Given the description of an element on the screen output the (x, y) to click on. 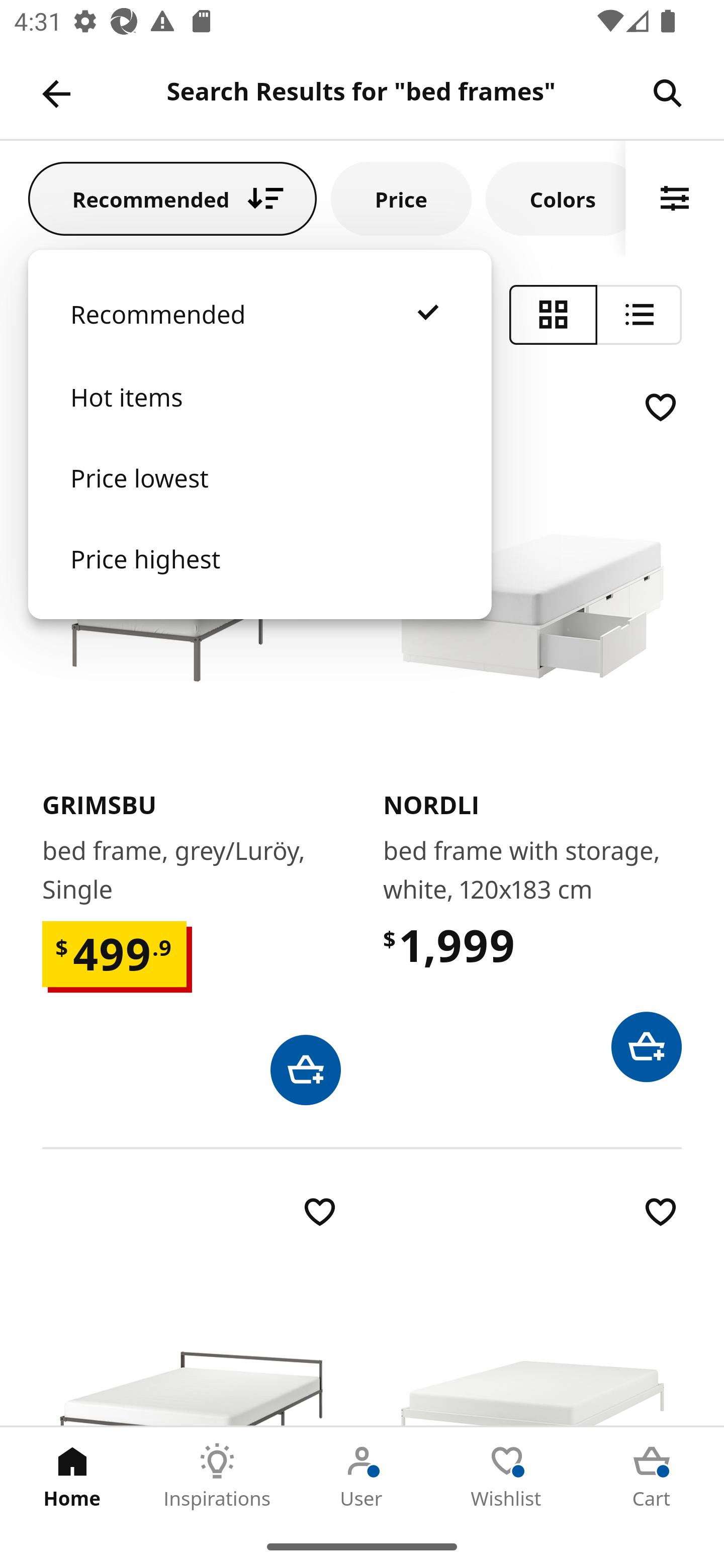
Recommended (172, 198)
Price (400, 198)
Colors (555, 198)
Recommended (259, 333)
Hot items (259, 416)
Price lowest (259, 497)
Price highest (259, 578)
Home
Tab 1 of 5 (72, 1476)
Inspirations
Tab 2 of 5 (216, 1476)
User
Tab 3 of 5 (361, 1476)
Wishlist
Tab 4 of 5 (506, 1476)
Cart
Tab 5 of 5 (651, 1476)
